Given the description of an element on the screen output the (x, y) to click on. 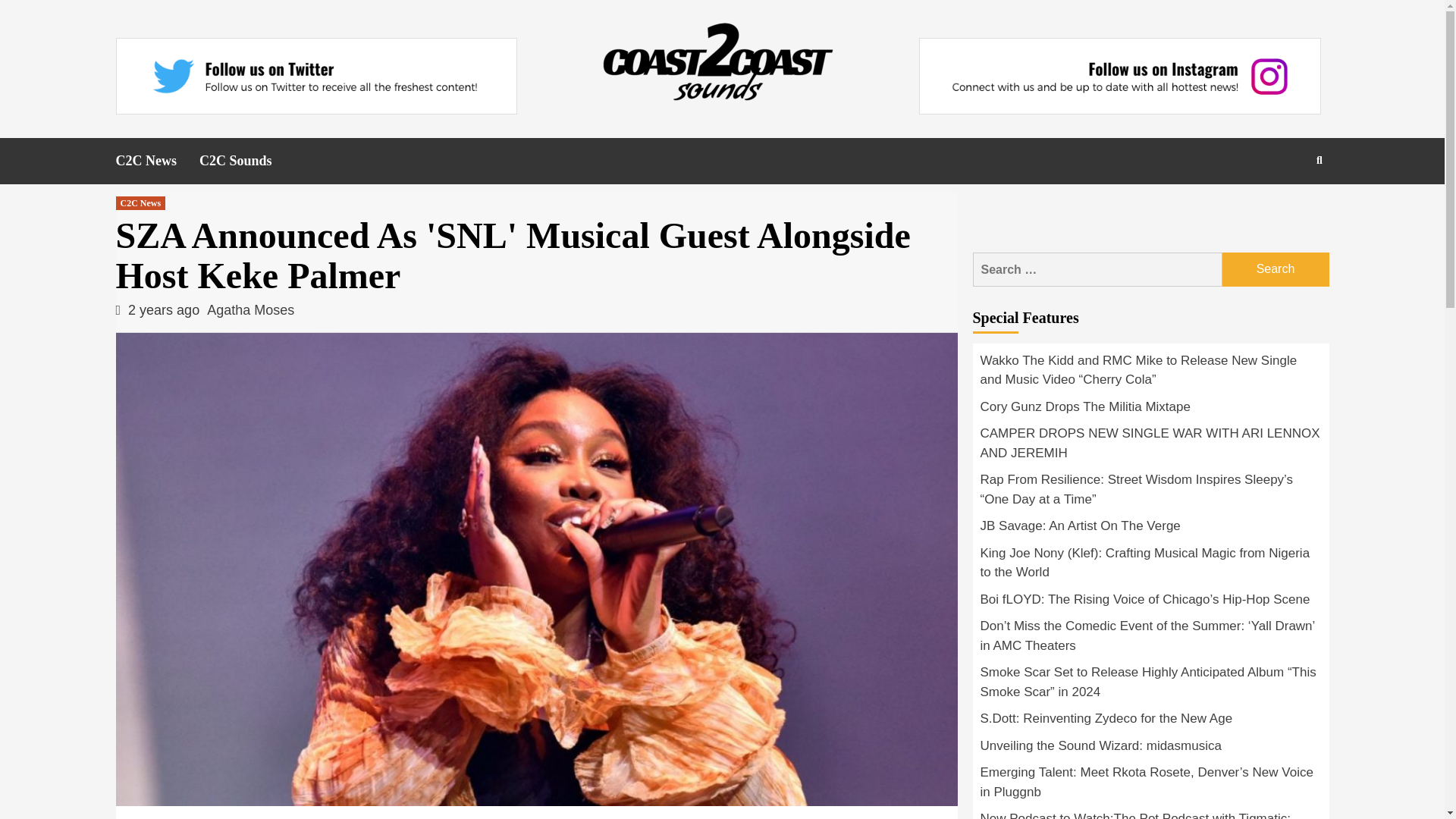
JB Savage: An Artist On The Verge (1149, 529)
Follow on Twitter (315, 75)
S.Dott: Reinventing Zydeco for the New Age (1149, 722)
Search (1276, 269)
Follow on Instagram (1119, 75)
C2C Sounds (247, 161)
Agatha Moses (250, 309)
Cory Gunz Drops The Militia Mixtape (1149, 411)
C2C News (140, 202)
Search (1276, 269)
C2C News (157, 161)
Unveiling the Sound Wizard: midasmusica (1149, 749)
Search (1283, 209)
Search (1276, 269)
